Given the description of an element on the screen output the (x, y) to click on. 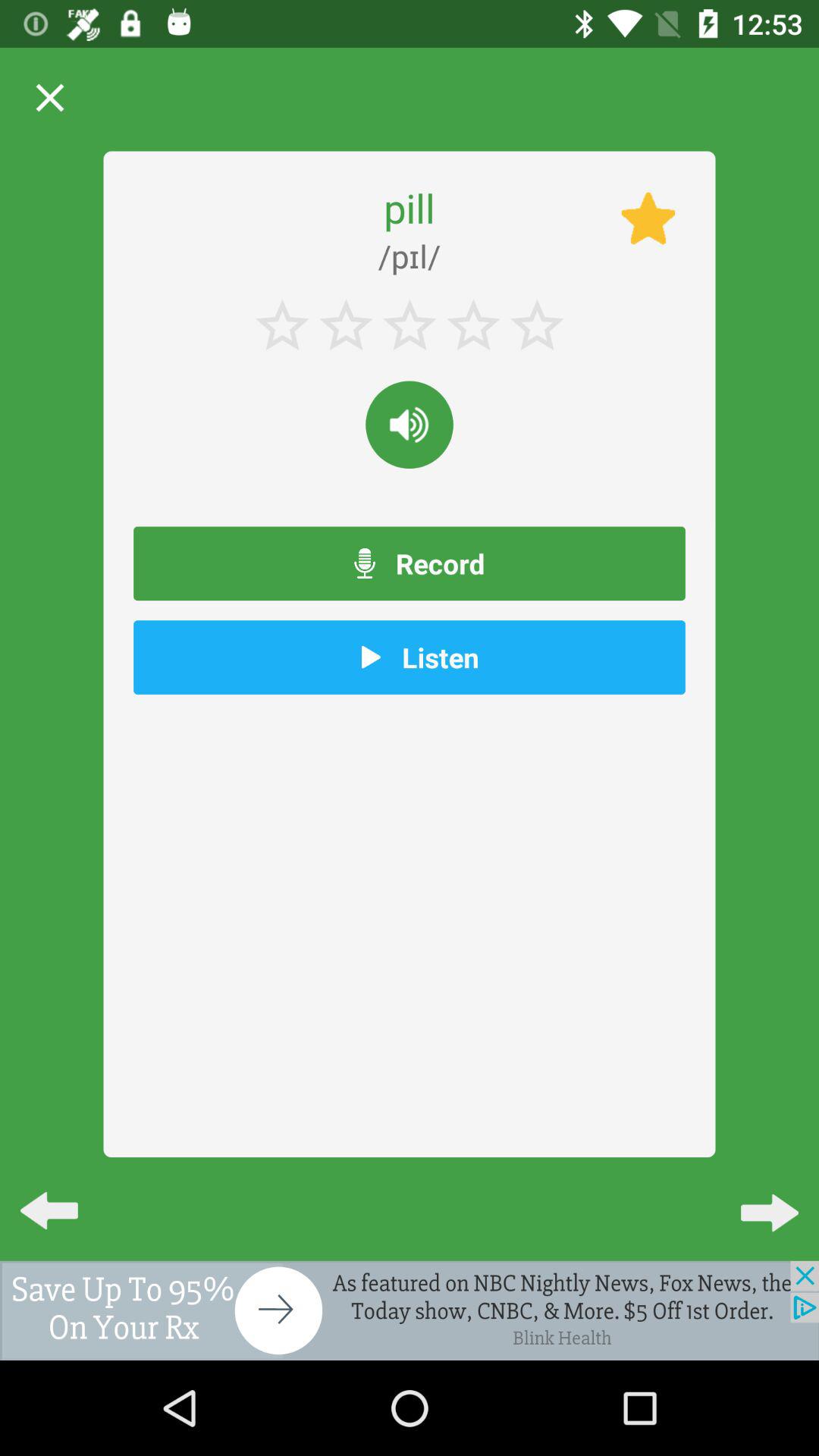
sound (409, 424)
